Given the description of an element on the screen output the (x, y) to click on. 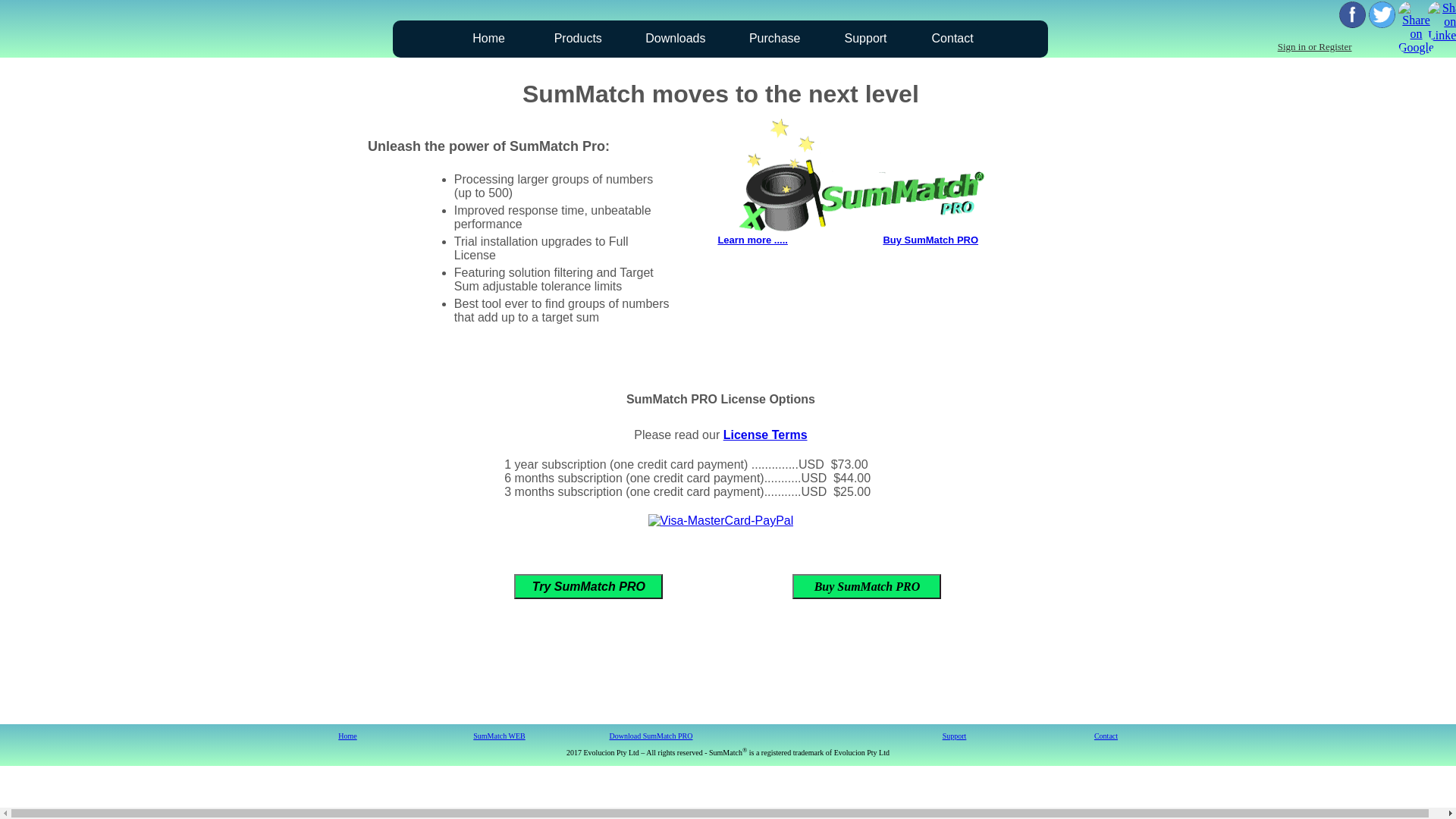
Home Element type: text (347, 735)
SumMatch WEB Element type: text (498, 735)
Purchase Element type: text (774, 38)
Buy SumMatch PRO Element type: text (866, 586)
Try SumMatch PRO Element type: text (588, 586)
Downloads Element type: text (674, 38)
License Terms Element type: text (765, 434)
Learn more ..... Element type: text (752, 239)
Products Element type: text (577, 38)
Contact Element type: text (952, 38)
Sign in or Register Element type: text (1314, 46)
Buy SumMatch PRO Element type: text (930, 239)
How PayPal Works Element type: hover (720, 520)
Support Element type: text (954, 735)
Home Element type: text (488, 38)
Download SumMatch PRO Element type: text (651, 735)
Contact Element type: text (1105, 735)
Support Element type: text (865, 38)
